Given the description of an element on the screen output the (x, y) to click on. 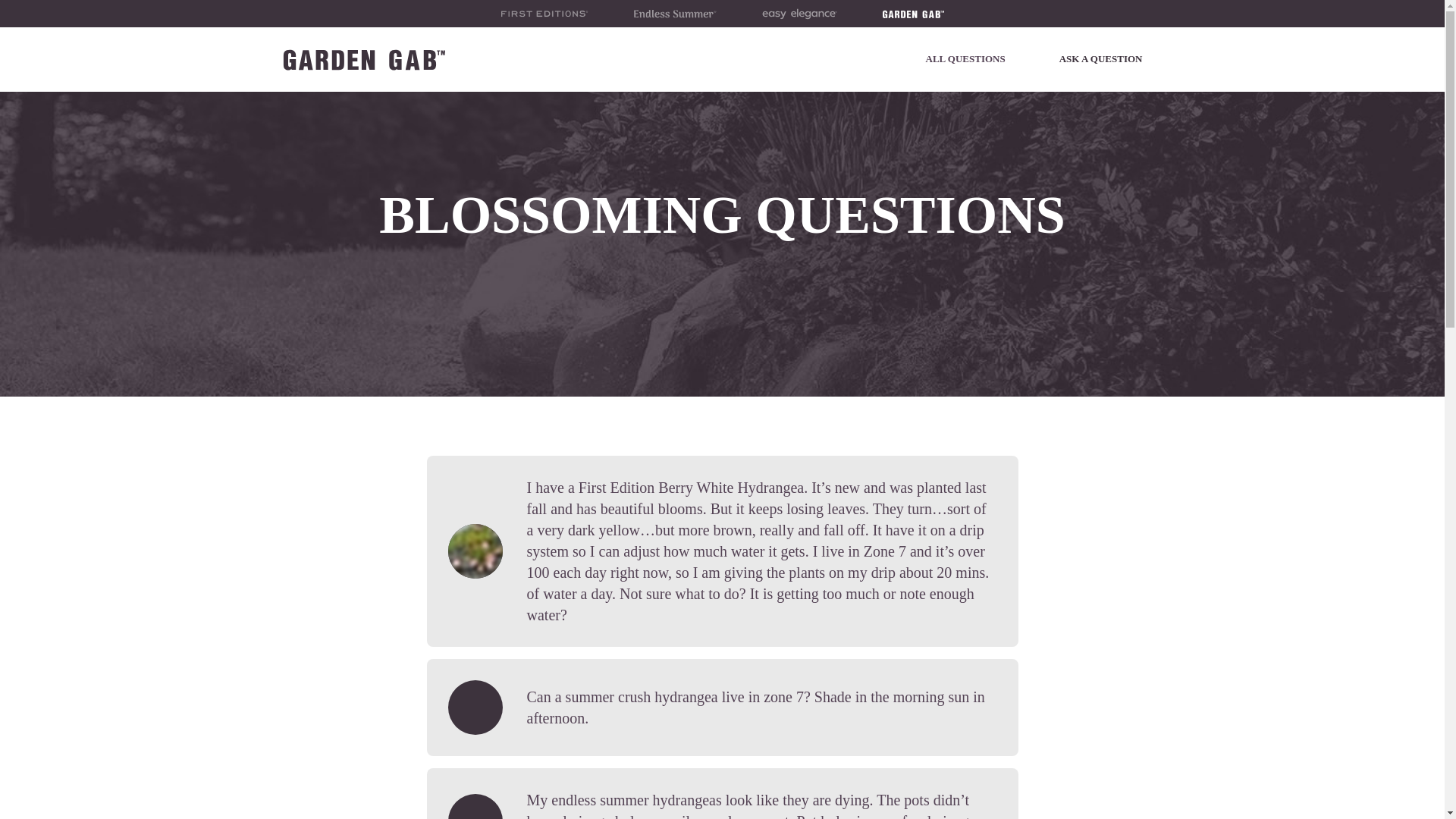
Endless Summer (673, 13)
ASK A QUESTION (1100, 59)
First Editions (544, 13)
ALL QUESTIONS (965, 59)
Easy Elegance (799, 13)
